Given the description of an element on the screen output the (x, y) to click on. 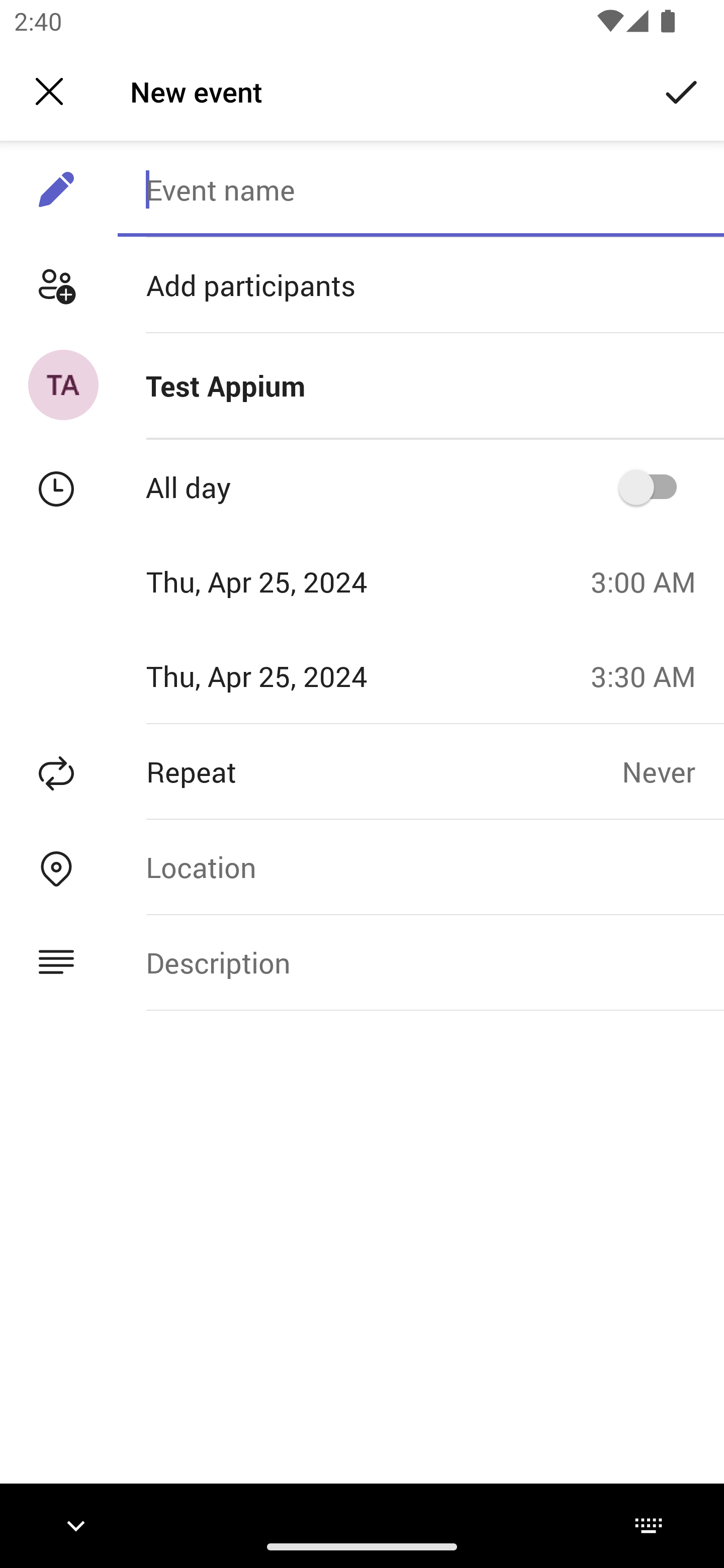
Back (49, 91)
Send invite (681, 90)
Event name (420, 189)
Add participants Add participants option (362, 285)
All day (654, 486)
Thu, Apr 25, 2024 Starts Thursday Apr 25, 2024 (288, 581)
3:00 AM Start time 3:00 AM (650, 581)
Thu, Apr 25, 2024 Ends Thursday Apr 25, 2024 (288, 675)
3:30 AM End time 3:30 AM (650, 675)
Repeat (310, 771)
Never Repeat Never (672, 771)
Location (420, 867)
Description (420, 962)
